Given the description of an element on the screen output the (x, y) to click on. 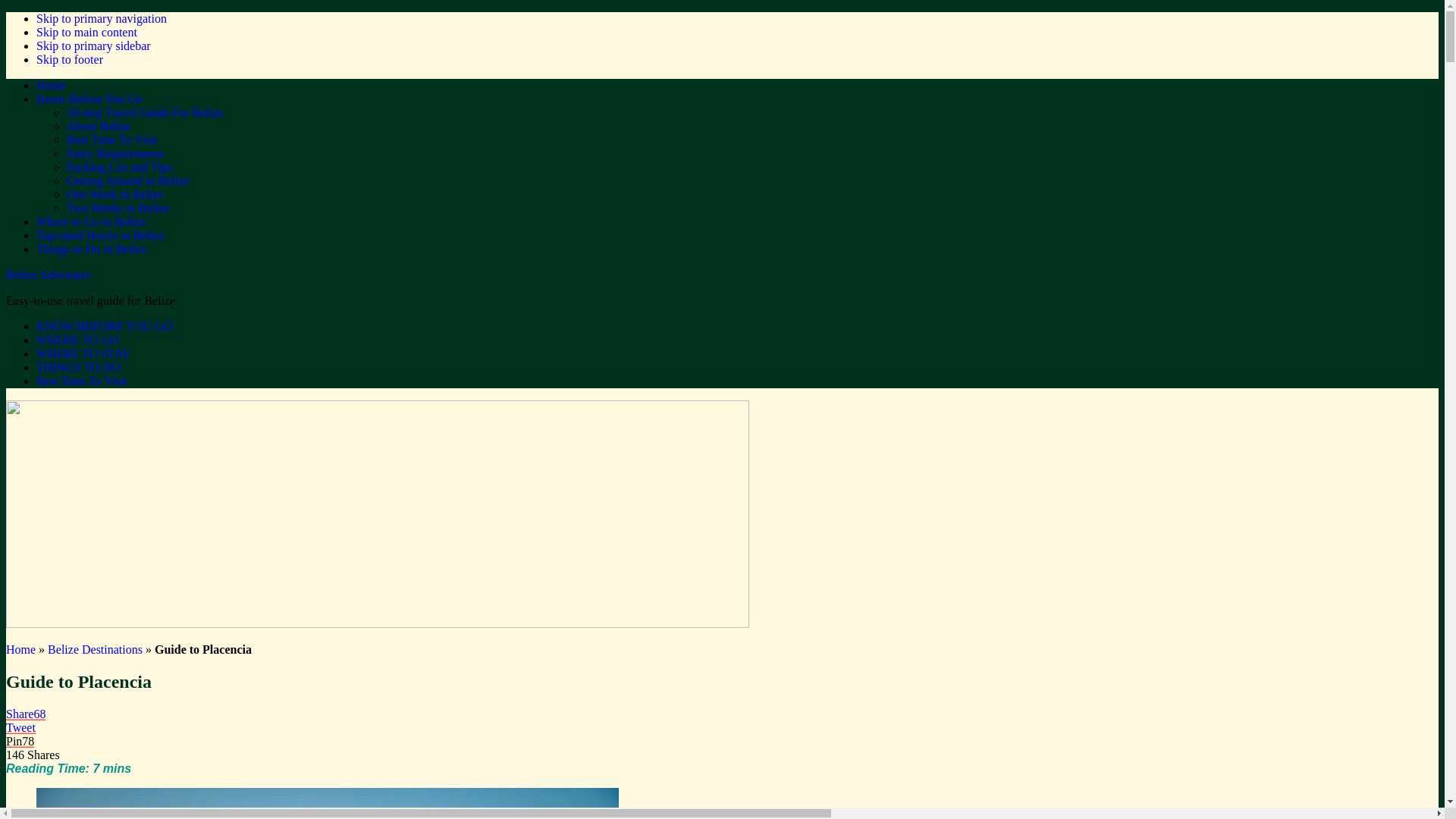
About Belize Element type: text (98, 125)
WHERE TO STAY Element type: text (83, 353)
Skip to footer Element type: text (69, 59)
Two Weeks in Belize Element type: text (117, 207)
Skip to main content Element type: text (86, 31)
Best Time To Visit Element type: text (81, 380)
Home Element type: text (50, 84)
Belize Adventure Element type: text (48, 274)
KNOW BEFORE YOU GO Element type: text (104, 326)
Belize Destinations Element type: text (94, 649)
Share68 Element type: text (25, 713)
One Week in Belize Element type: text (114, 194)
Skip to primary navigation Element type: text (101, 18)
Best Time To Visit Element type: text (111, 139)
Packing List and Tips Element type: text (119, 166)
Entry Requirements Element type: text (114, 153)
Home Element type: text (20, 649)
Pin78 Element type: text (20, 740)
Things to Do in Belize Element type: text (91, 248)
Getting Around in Belize Element type: text (127, 180)
Where to Go in Belize Element type: text (90, 221)
Know Before You Go Element type: text (89, 98)
Tweet Element type: text (20, 727)
10-step Travel Guide For Belize Element type: text (144, 112)
WHERE TO GO Element type: text (77, 339)
Top-rated Hotels in Belize Element type: text (100, 235)
THINGS TO DO Element type: text (78, 366)
Skip to primary sidebar Element type: text (93, 45)
